Given the description of an element on the screen output the (x, y) to click on. 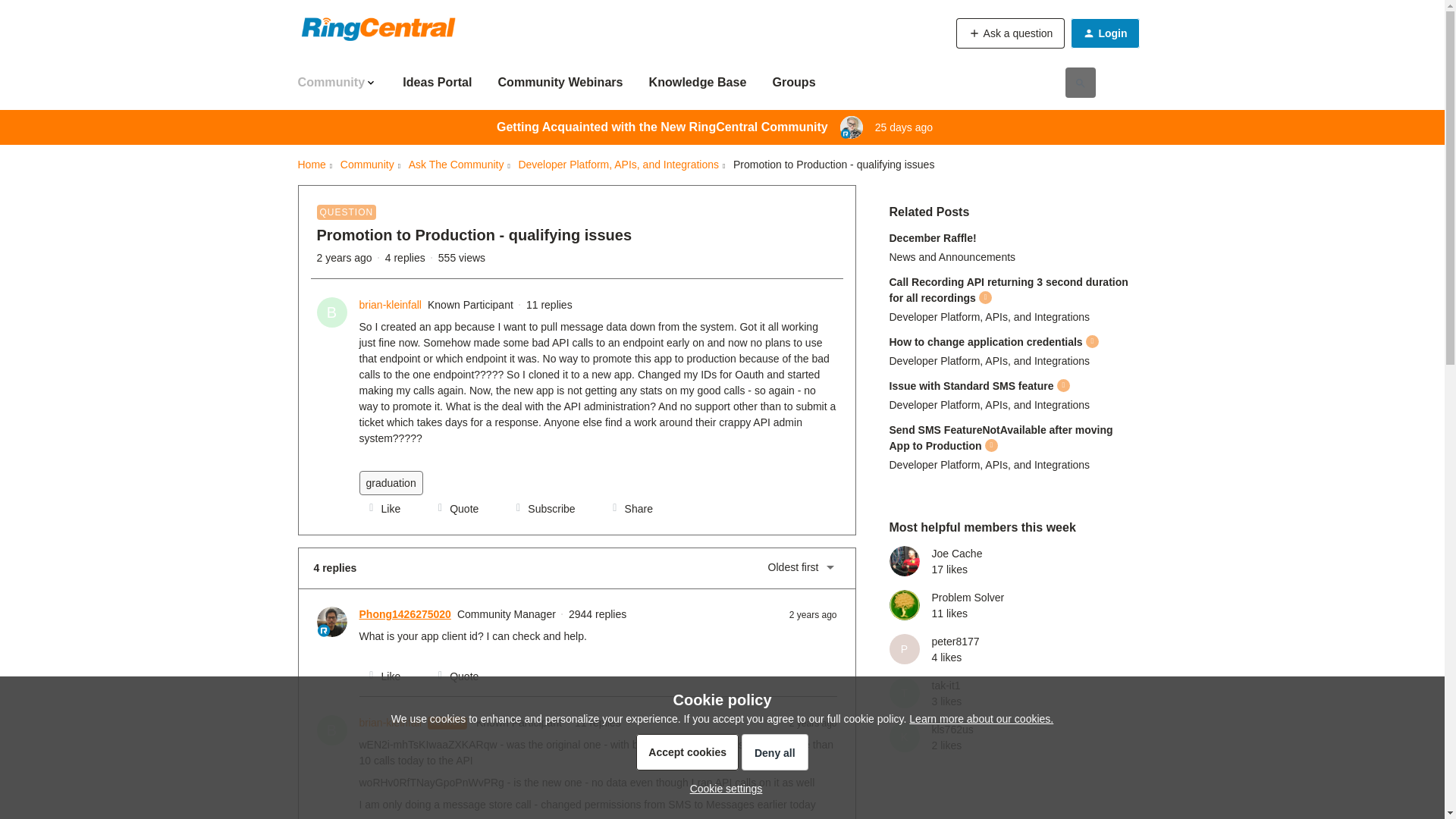
Community (337, 82)
Community (367, 164)
Ideas Portal (437, 81)
Knowledge Base (697, 81)
Ask The Community (456, 164)
Login (1104, 33)
brian-kleinfall (390, 304)
brian-kleinfall (390, 722)
brian-kleinfall (390, 304)
Groups (793, 81)
Developer Platform, APIs, and Integrations (618, 164)
graduation (391, 482)
Home (310, 164)
B (332, 312)
Community Manager (845, 133)
